Given the description of an element on the screen output the (x, y) to click on. 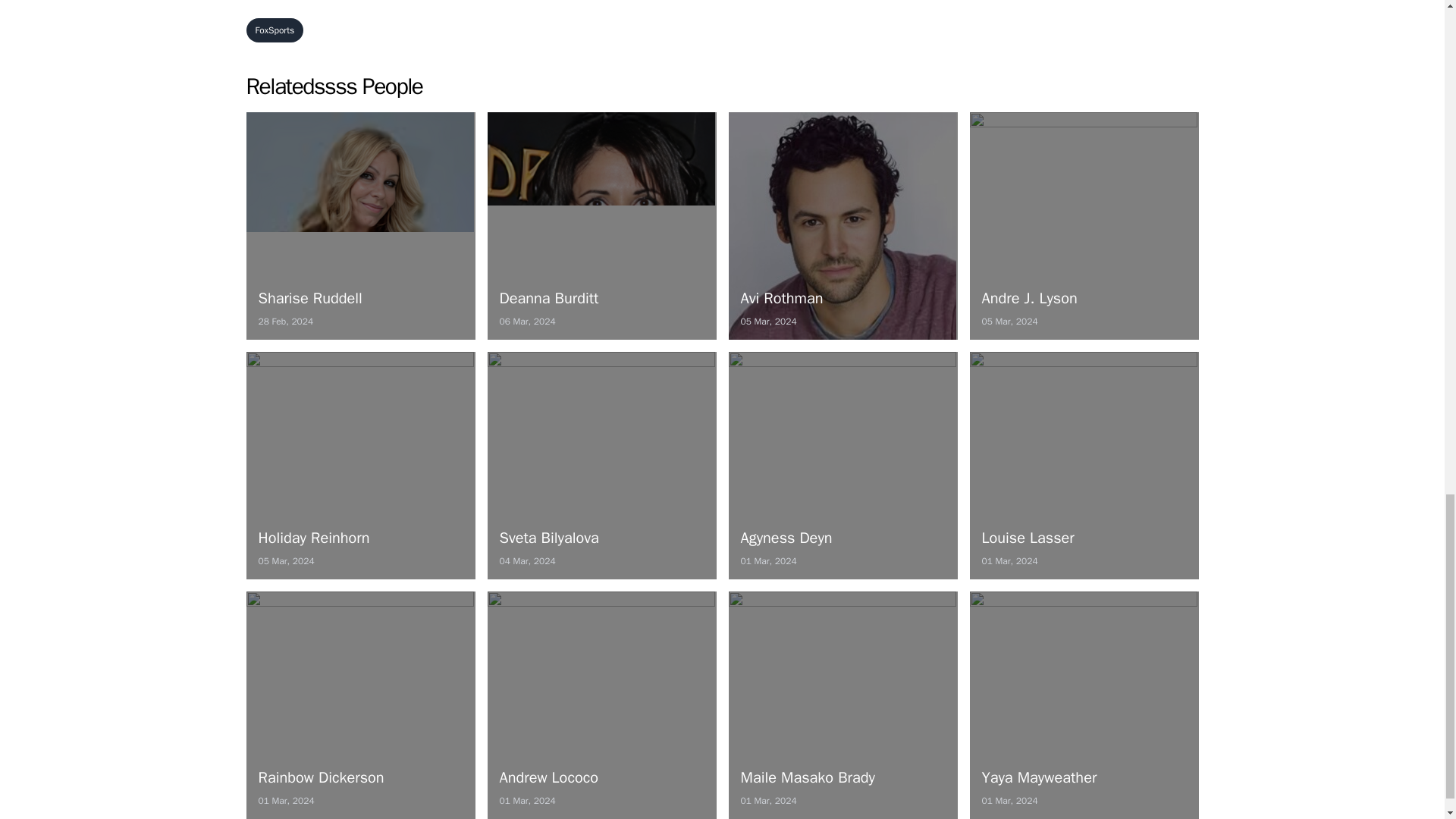
FoxSports (360, 465)
